Given the description of an element on the screen output the (x, y) to click on. 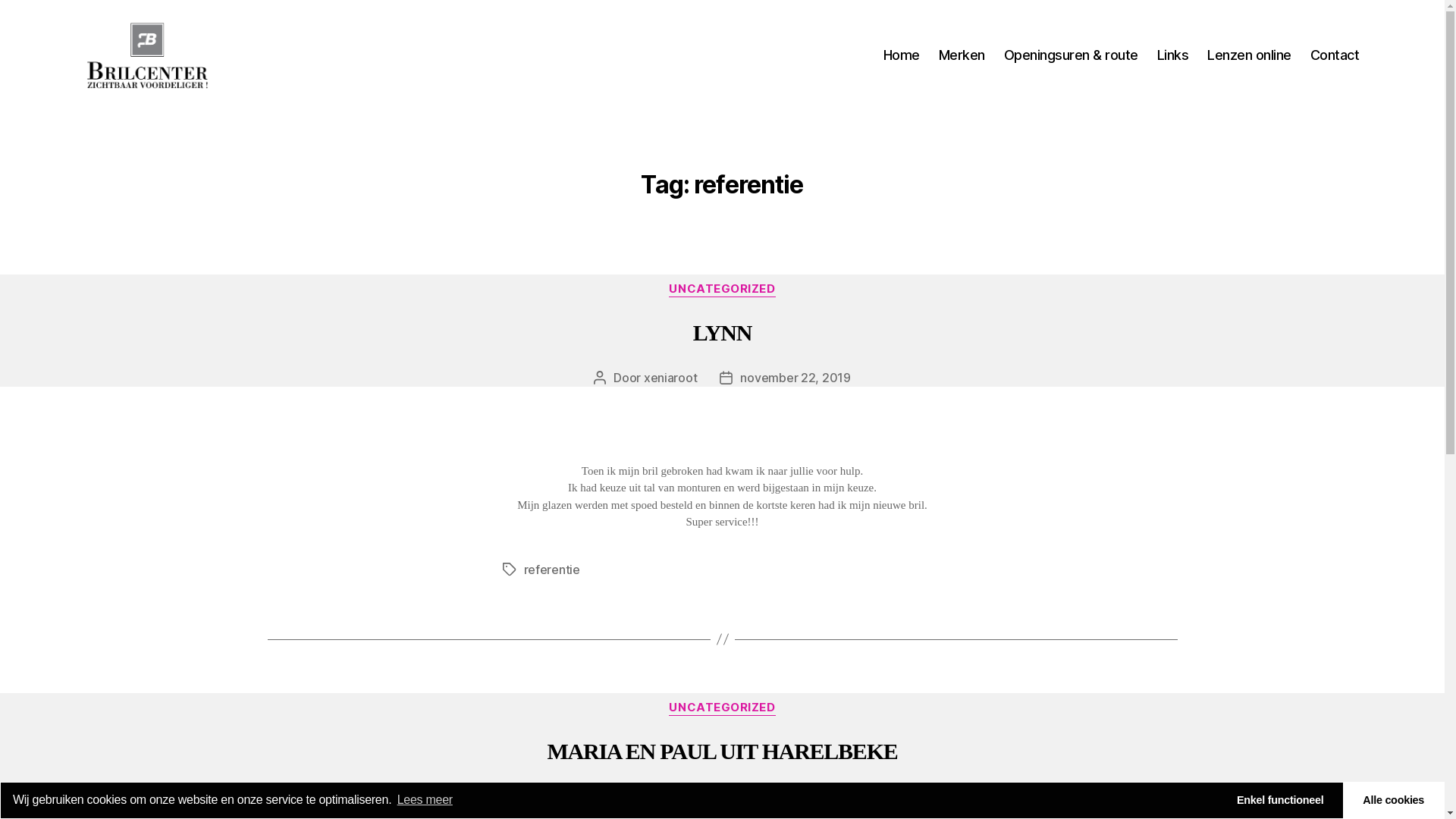
xeniaroot Element type: text (670, 795)
Alle cookies Element type: text (1393, 800)
Merken Element type: text (961, 55)
november 22, 2019 Element type: text (795, 795)
UNCATEGORIZED Element type: text (721, 289)
Openingsuren & route Element type: text (1071, 55)
Links Element type: text (1173, 55)
Lees meer Element type: text (422, 799)
Enkel functioneel Element type: text (1280, 800)
Contact Element type: text (1334, 55)
LYNN Element type: text (722, 332)
referentie Element type: text (551, 569)
UNCATEGORIZED Element type: text (721, 707)
november 22, 2019 Element type: text (795, 377)
Home Element type: text (901, 55)
MARIA EN PAUL UIT HARELBEKE Element type: text (722, 750)
xeniaroot Element type: text (670, 377)
Lenzen online Element type: text (1249, 55)
